Given the description of an element on the screen output the (x, y) to click on. 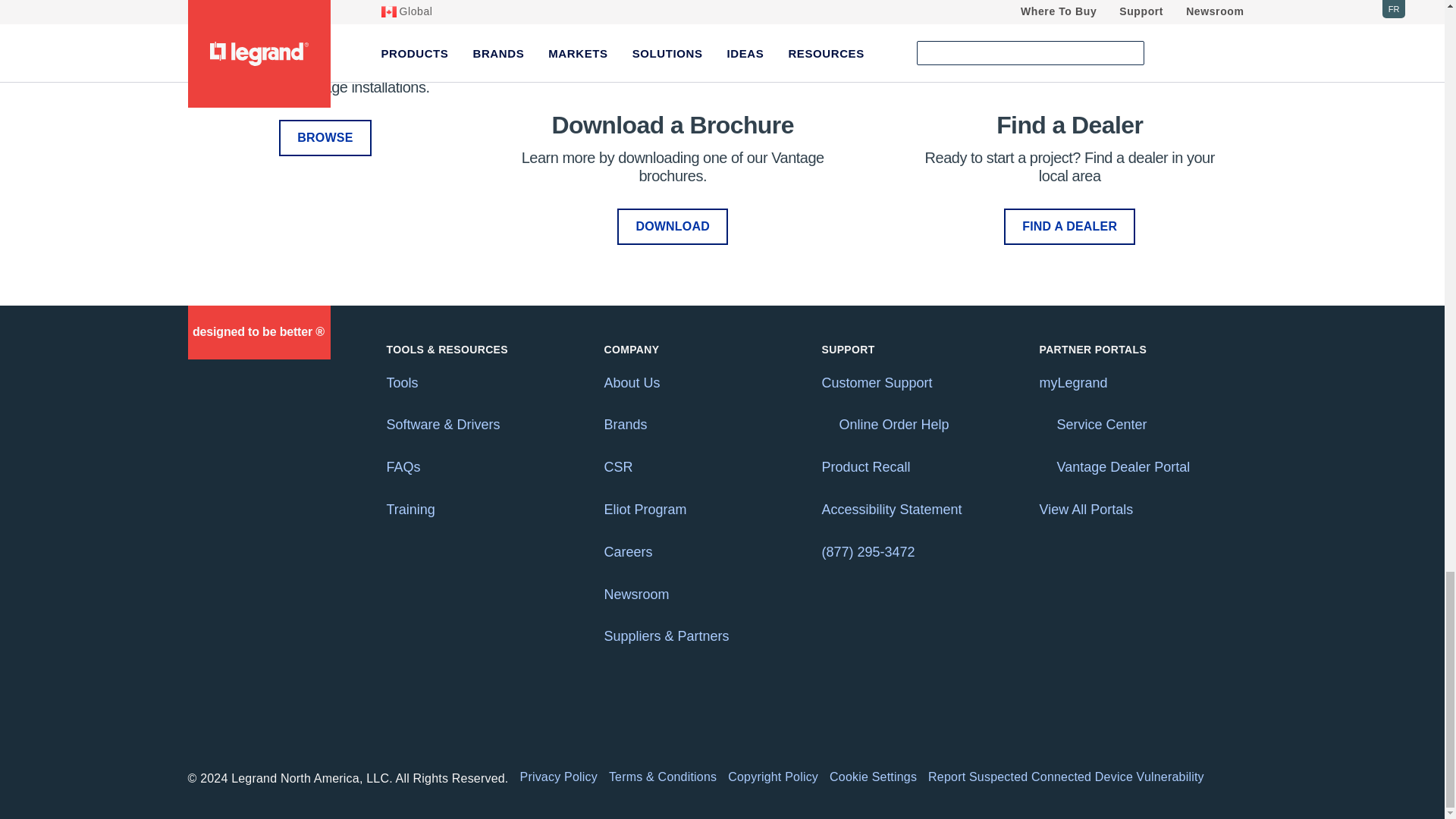
Opens in a new tab. (1043, 466)
Opens in a new tab. (1043, 424)
Opens in a new tab. (826, 424)
Legrand US (258, 332)
